Given the description of an element on the screen output the (x, y) to click on. 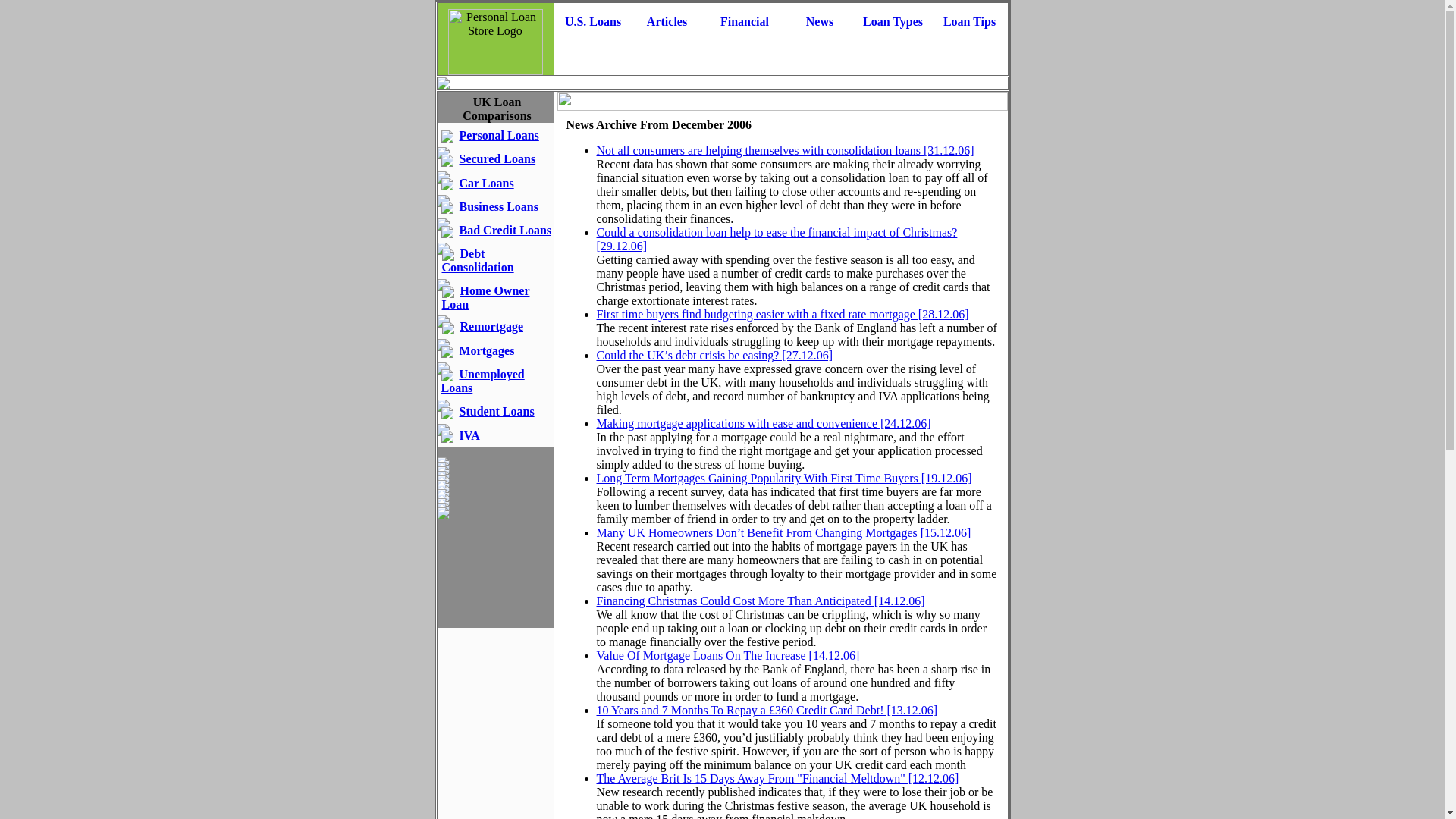
News (819, 21)
Business Loans (499, 205)
Student Loans (497, 410)
Remortgage (491, 326)
Articles (666, 21)
Loan Types (893, 21)
Home Owner Loan (485, 297)
Bad Credit Loans (505, 229)
Loan Tips (969, 21)
Debt Consolidation (477, 260)
USA Loans Online at 1PLs Agency (592, 21)
Unemployed Loans (482, 380)
IVA (470, 435)
Mortgages (487, 350)
Car Loans (486, 182)
